Given the description of an element on the screen output the (x, y) to click on. 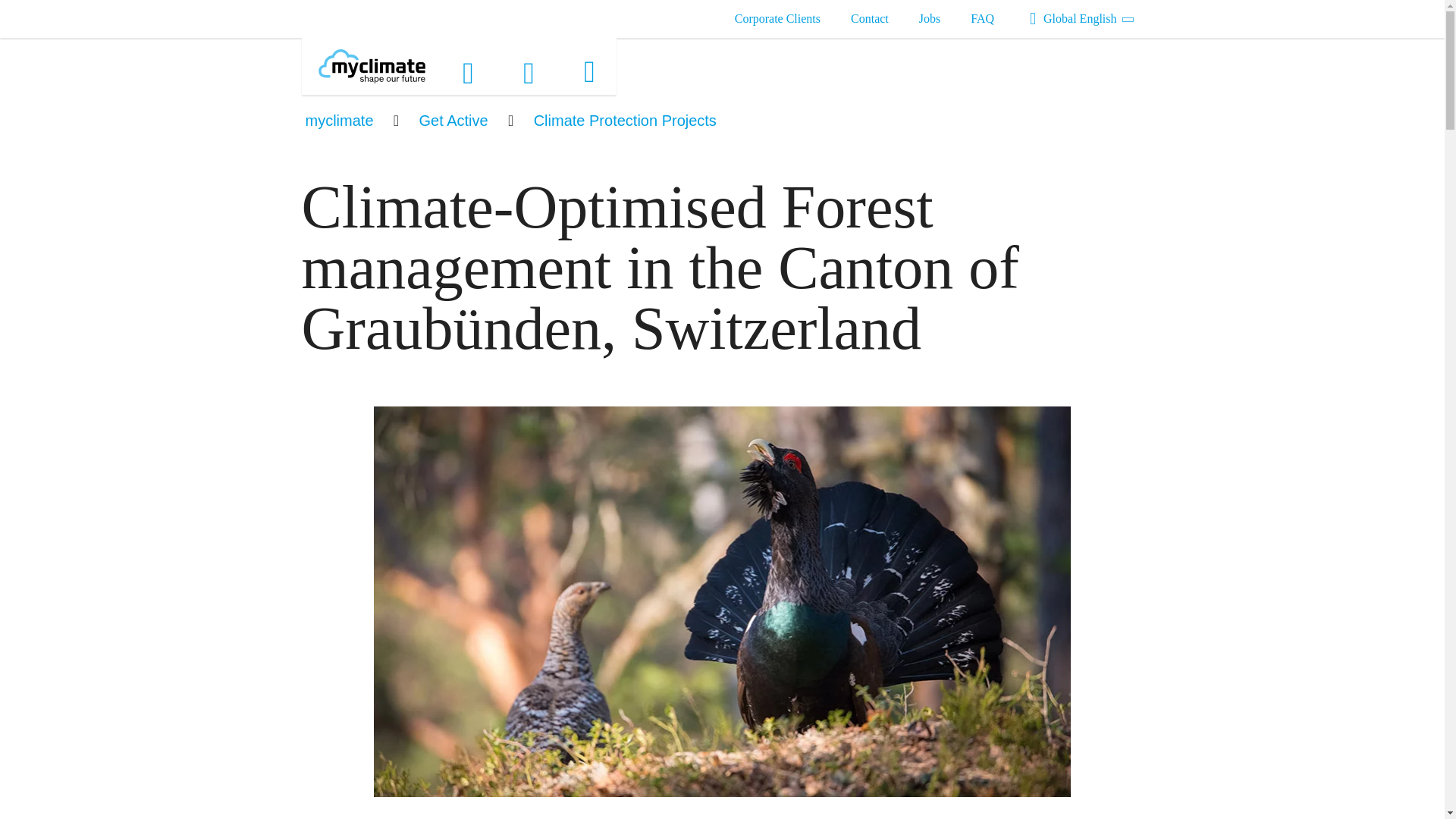
Offsetting (471, 71)
Corporate Clients (777, 18)
Suche (532, 71)
myclimate (338, 120)
Get Active (453, 120)
Jobs (929, 18)
Climate Protection Projects (625, 120)
Corporate Clients (777, 18)
FAQ (981, 18)
Contact (869, 18)
